Given the description of an element on the screen output the (x, y) to click on. 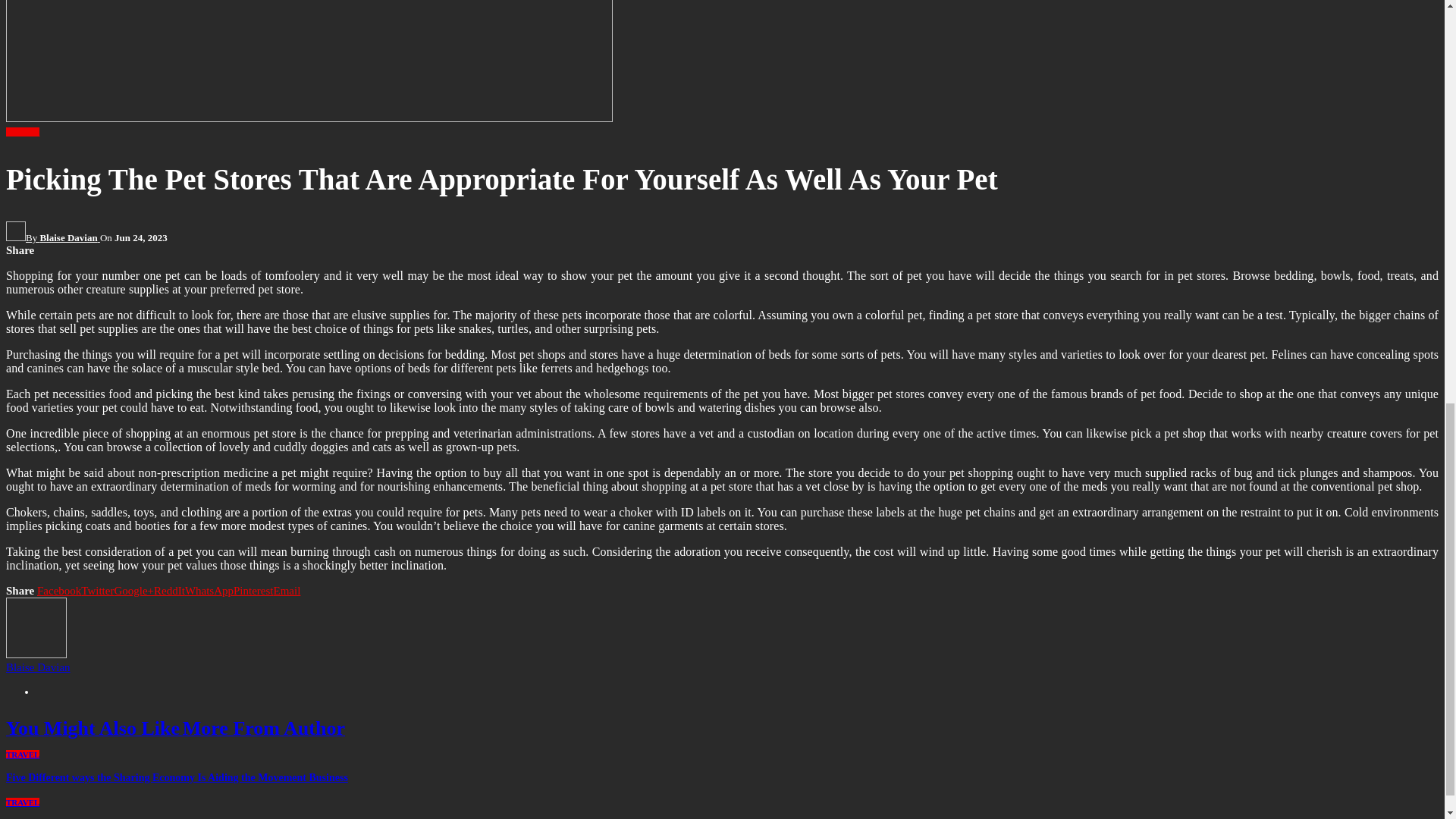
WhatsApp (208, 590)
Twitter (97, 590)
Browse Author Articles (35, 654)
Browse Author Articles (52, 237)
You Might Also Like (94, 730)
Pinterest (252, 590)
By Blaise Davian (52, 237)
Email (287, 590)
ReddIt (169, 590)
TRAVEL (22, 131)
